Given the description of an element on the screen output the (x, y) to click on. 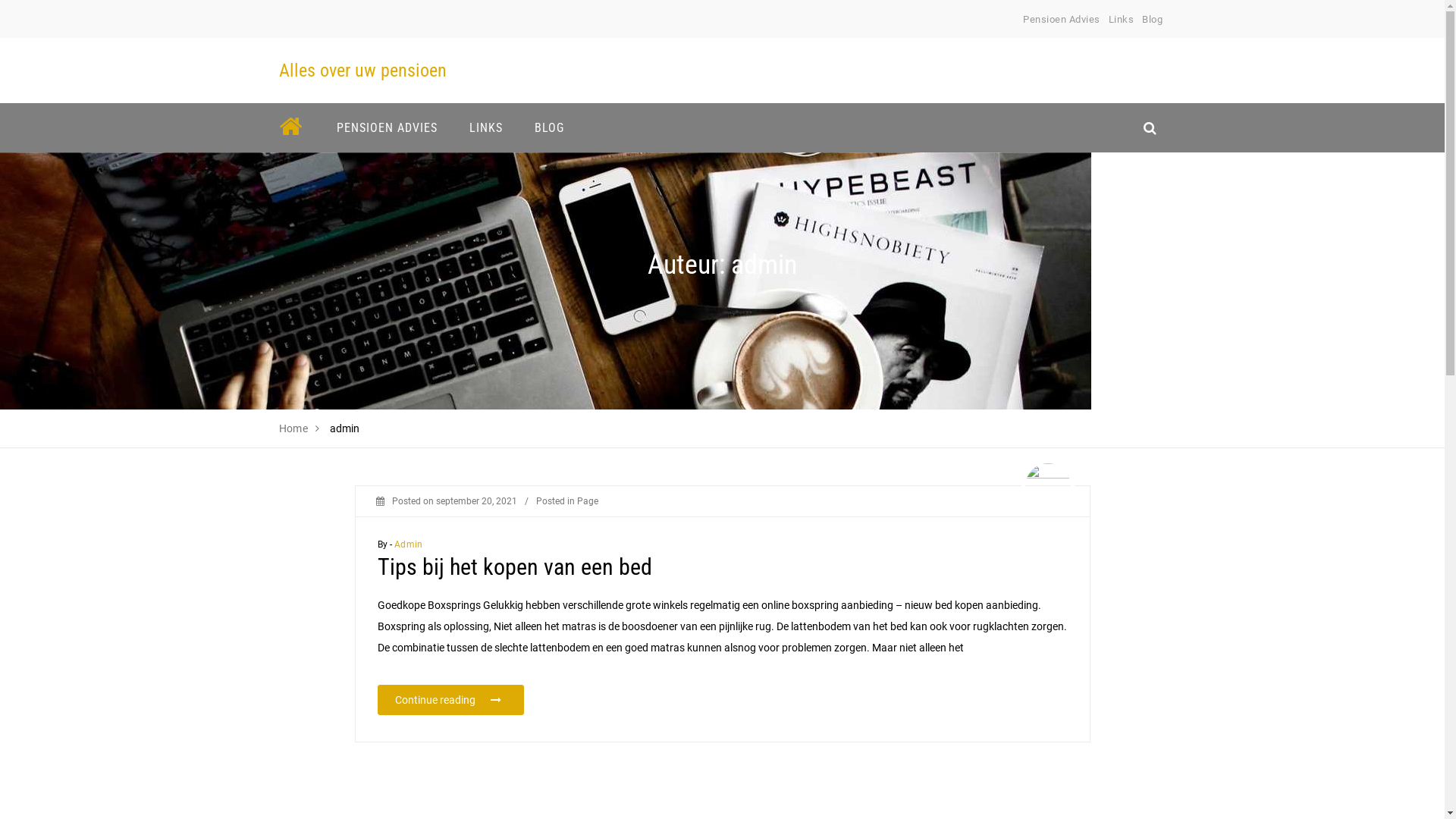
Page Element type: text (586, 500)
Links Element type: text (1121, 19)
PENSIOEN ADVIES Element type: text (386, 127)
LINKS Element type: text (485, 127)
Alles over uw pensioen Element type: text (362, 70)
BLOG Element type: text (549, 127)
search_icon Element type: hover (1148, 127)
Blog Element type: text (1152, 19)
Admin Element type: text (408, 544)
Pensioen Advies Element type: text (1061, 19)
Tips bij het kopen van een bed Element type: text (514, 566)
Home Element type: text (293, 428)
